Given the description of an element on the screen output the (x, y) to click on. 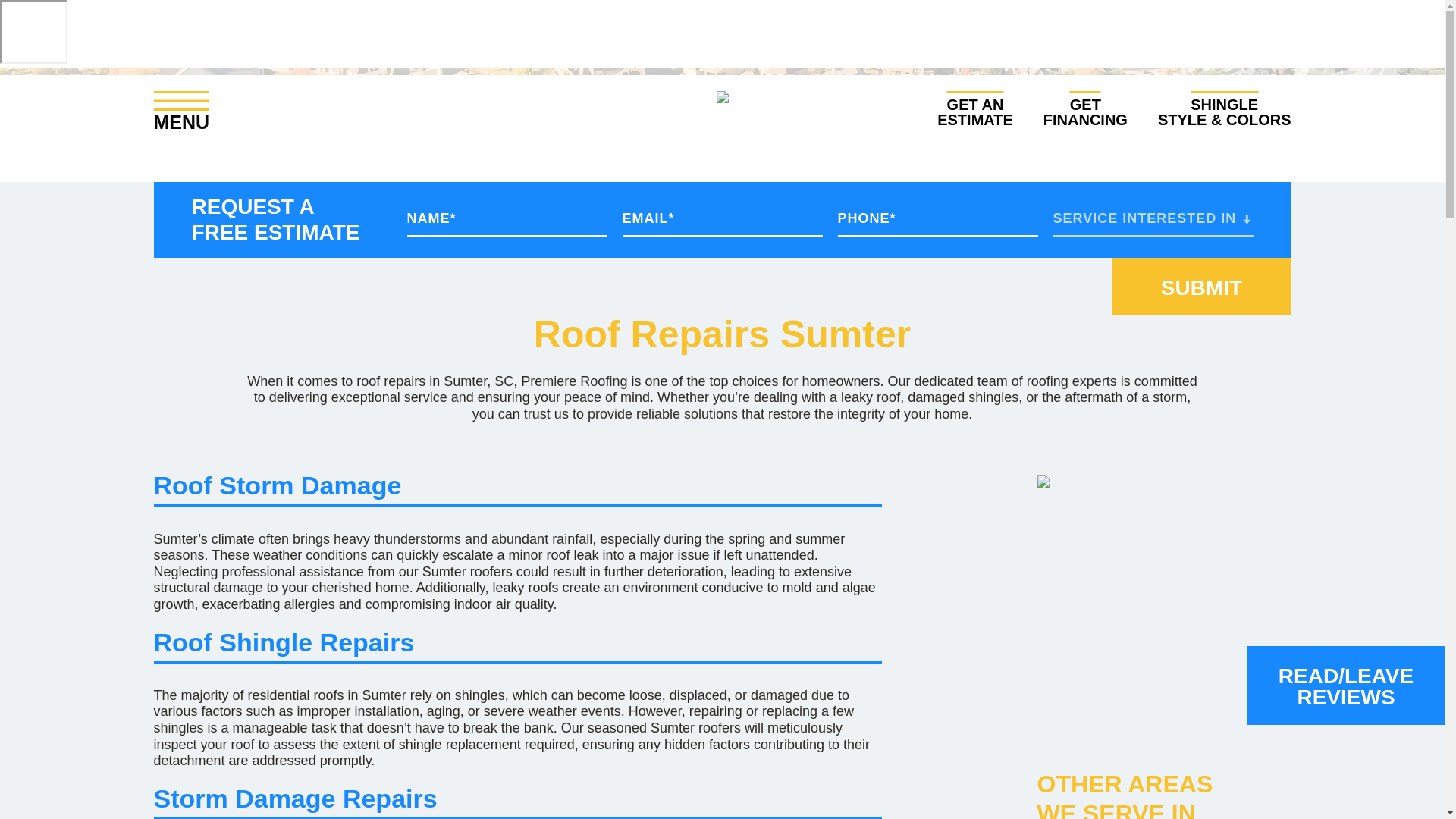
SUBMIT (1201, 286)
MENU (975, 108)
